Given the description of an element on the screen output the (x, y) to click on. 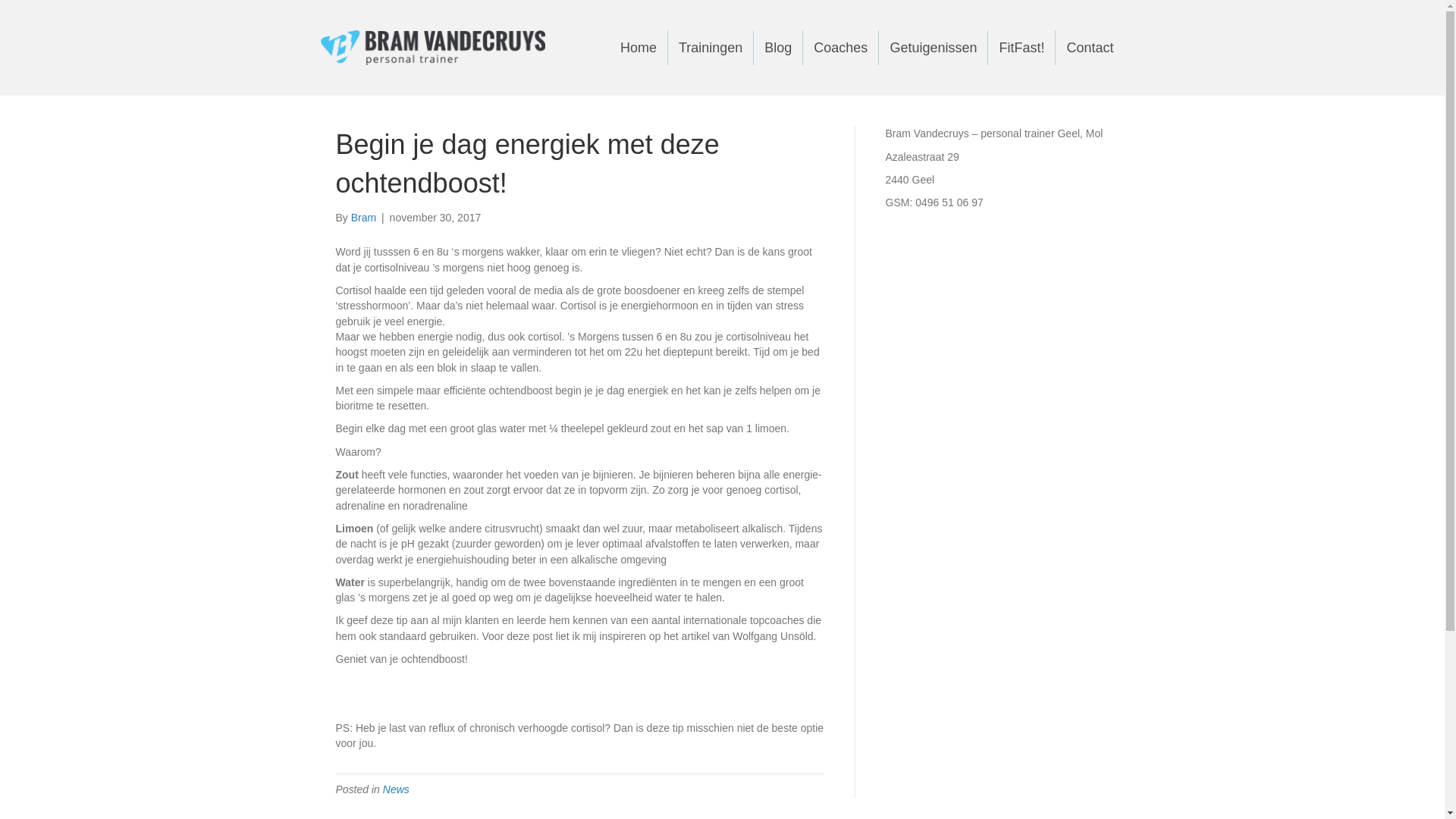
News Element type: text (395, 789)
logo_bramvandecruys_horizont Element type: hover (432, 47)
Getuigenissen Element type: text (932, 47)
Home Element type: text (638, 47)
Blog Element type: text (777, 47)
Contact Element type: text (1089, 47)
Trainingen Element type: text (710, 47)
Bram Element type: text (363, 217)
FitFast! Element type: text (1021, 47)
Coaches Element type: text (840, 47)
